Given the description of an element on the screen output the (x, y) to click on. 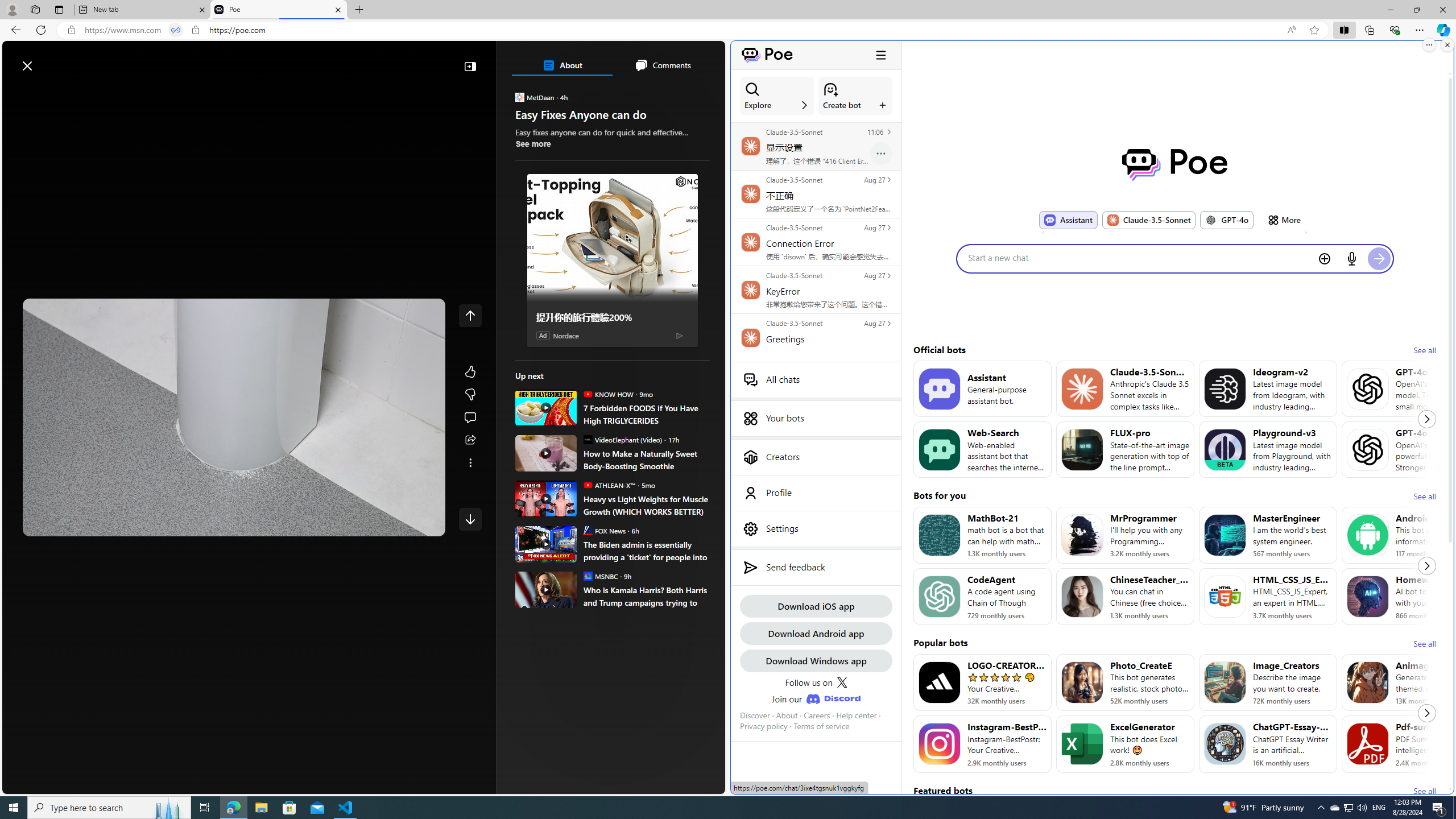
Bot image for HTML_CSS_JS_Expert (1224, 596)
Bot image for AnimagineXL (1367, 682)
Bot image for Instagram-BestPost (938, 743)
Class: FollowTwitterLink_twitterIconBlack__SS_7V (842, 682)
Enter your search term (366, 59)
